Given the description of an element on the screen output the (x, y) to click on. 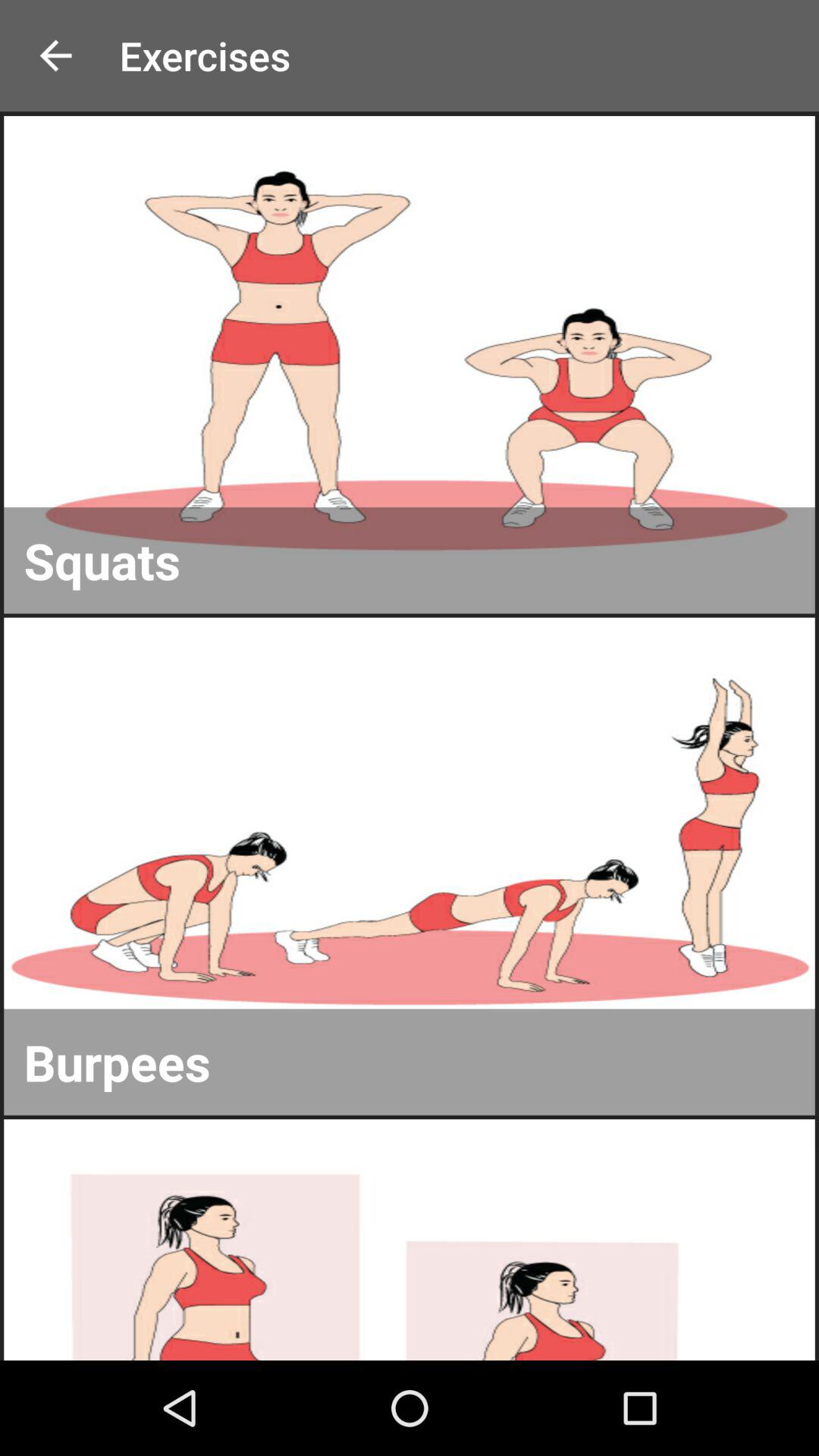
tap squats item (409, 560)
